Given the description of an element on the screen output the (x, y) to click on. 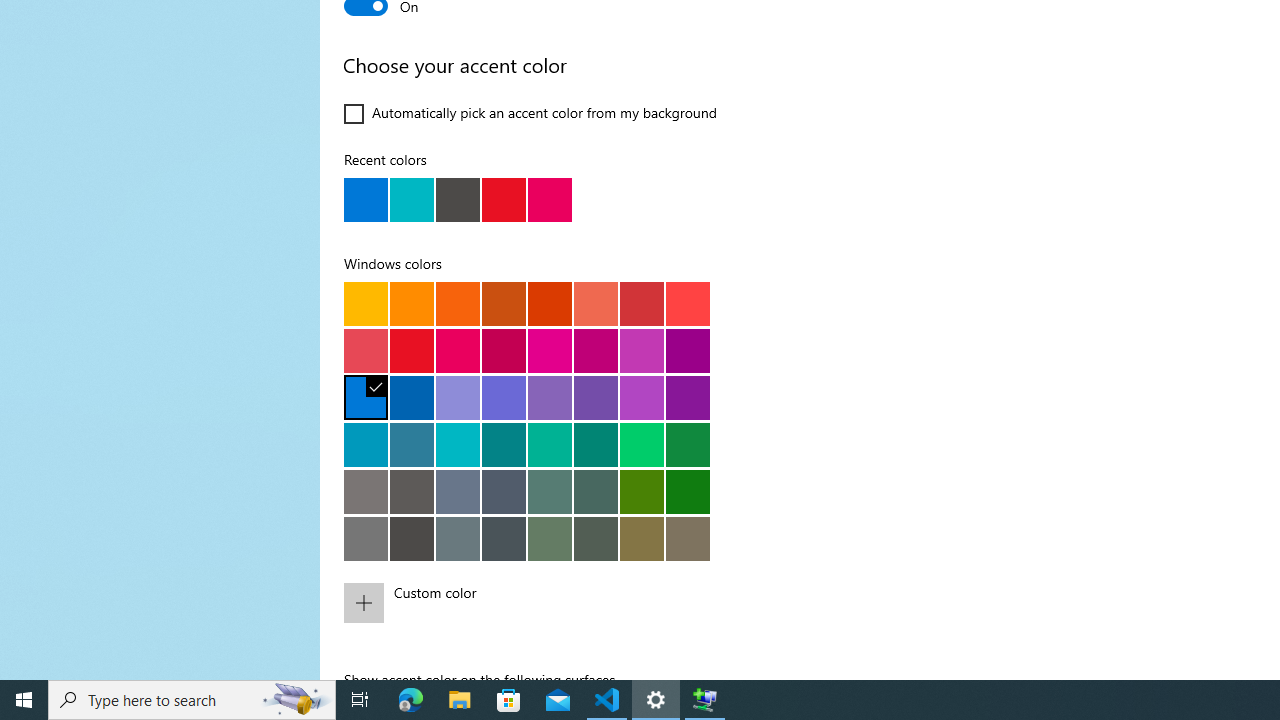
Red (411, 350)
